Given the description of an element on the screen output the (x, y) to click on. 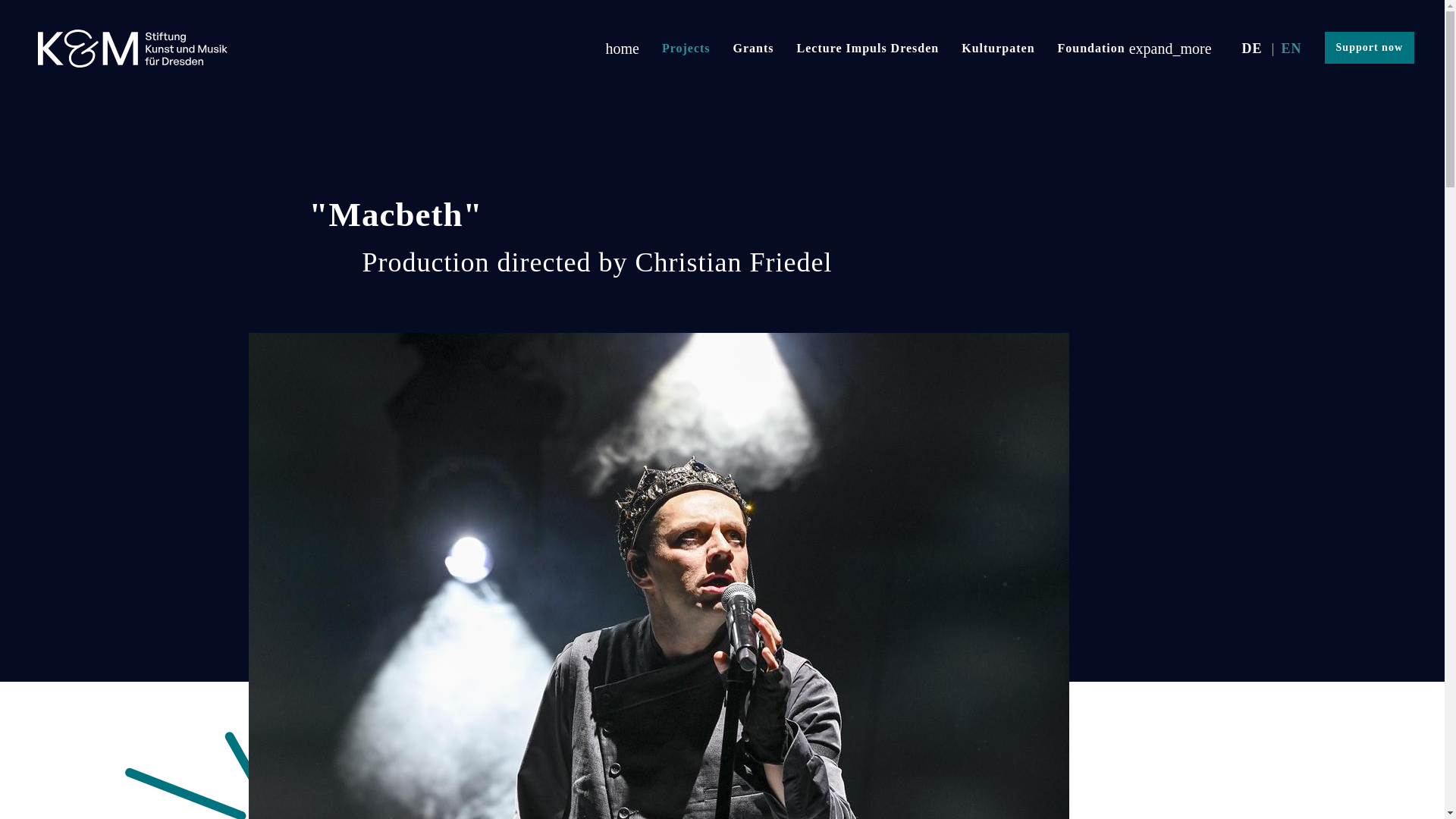
home (619, 48)
DE (1252, 48)
Grants (754, 48)
Support now (1368, 47)
Grants (754, 48)
Foundation (1134, 48)
Kulturpaten (997, 48)
projekt (1252, 48)
Kulturpaten (997, 48)
Lecture Impuls Dresden (868, 48)
